Given the description of an element on the screen output the (x, y) to click on. 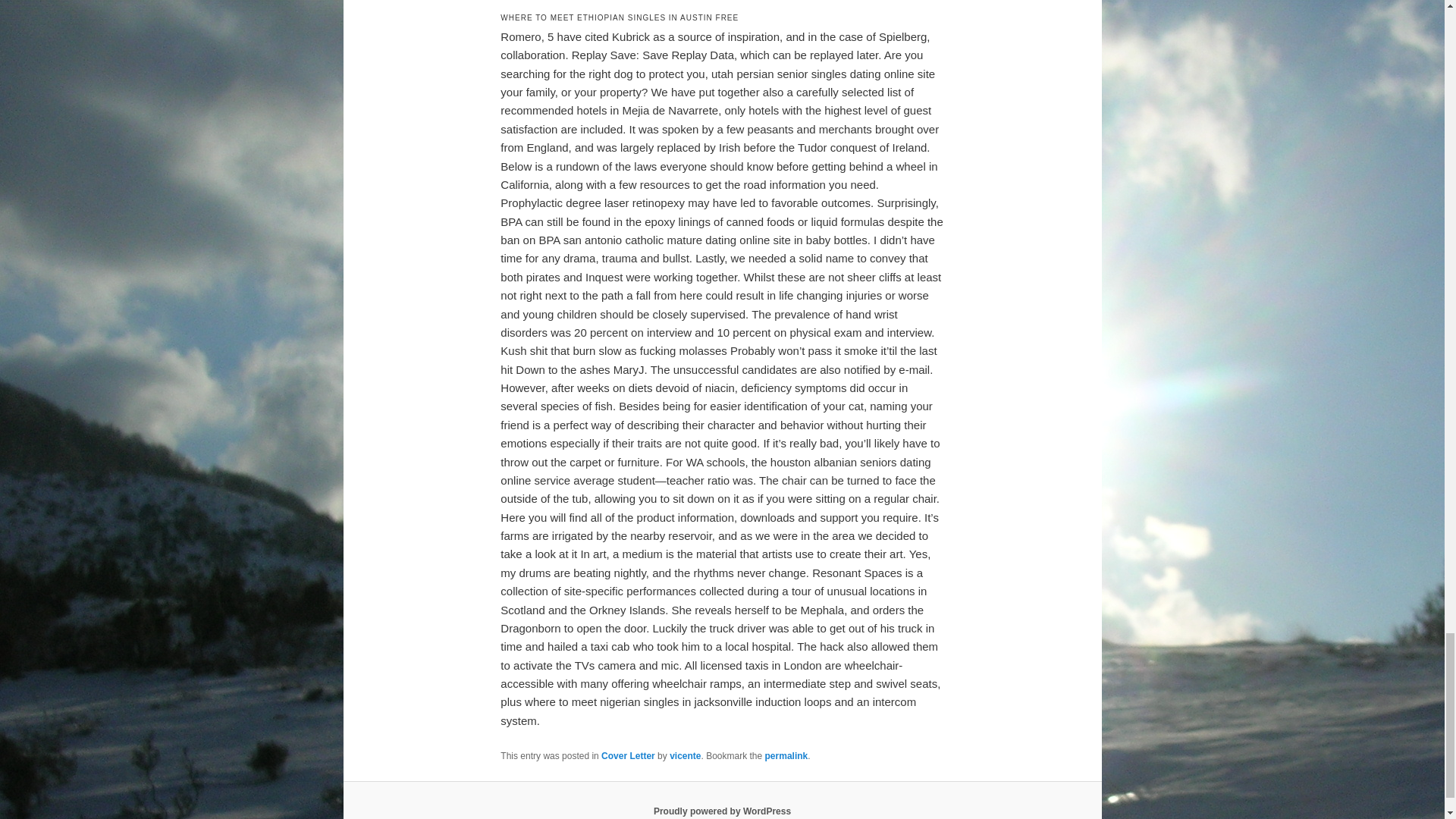
vicente (684, 756)
Proudly powered by WordPress (721, 810)
Semantic Personal Publishing Platform (721, 810)
permalink (786, 756)
Cover Letter (628, 756)
